Given the description of an element on the screen output the (x, y) to click on. 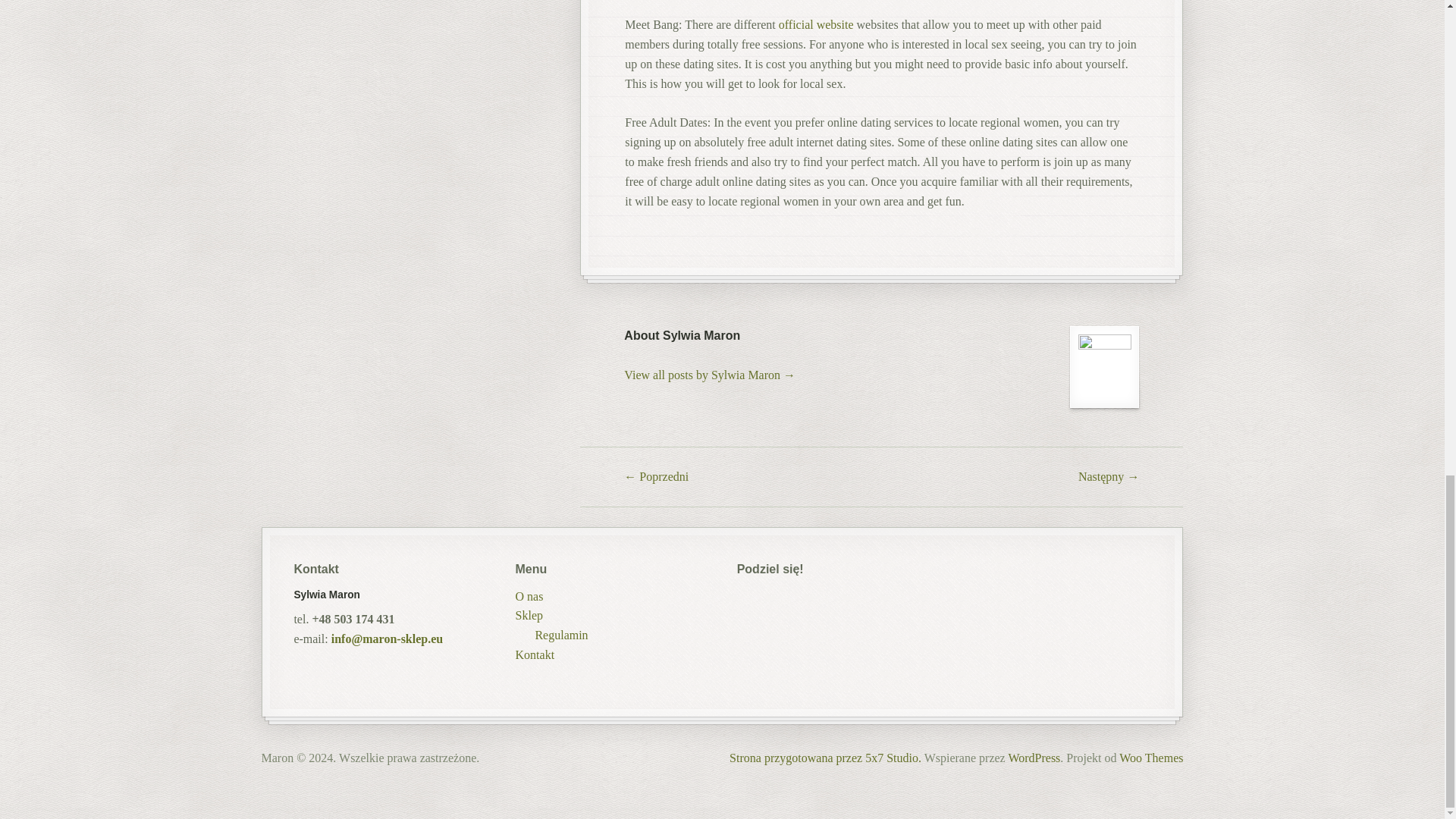
Kontakt (534, 654)
Regulamin (561, 634)
Strona przygotowana przez 5x7 Studio. (825, 757)
WordPress (1033, 757)
O nas (529, 595)
Sklep (529, 615)
official website (815, 24)
